Given the description of an element on the screen output the (x, y) to click on. 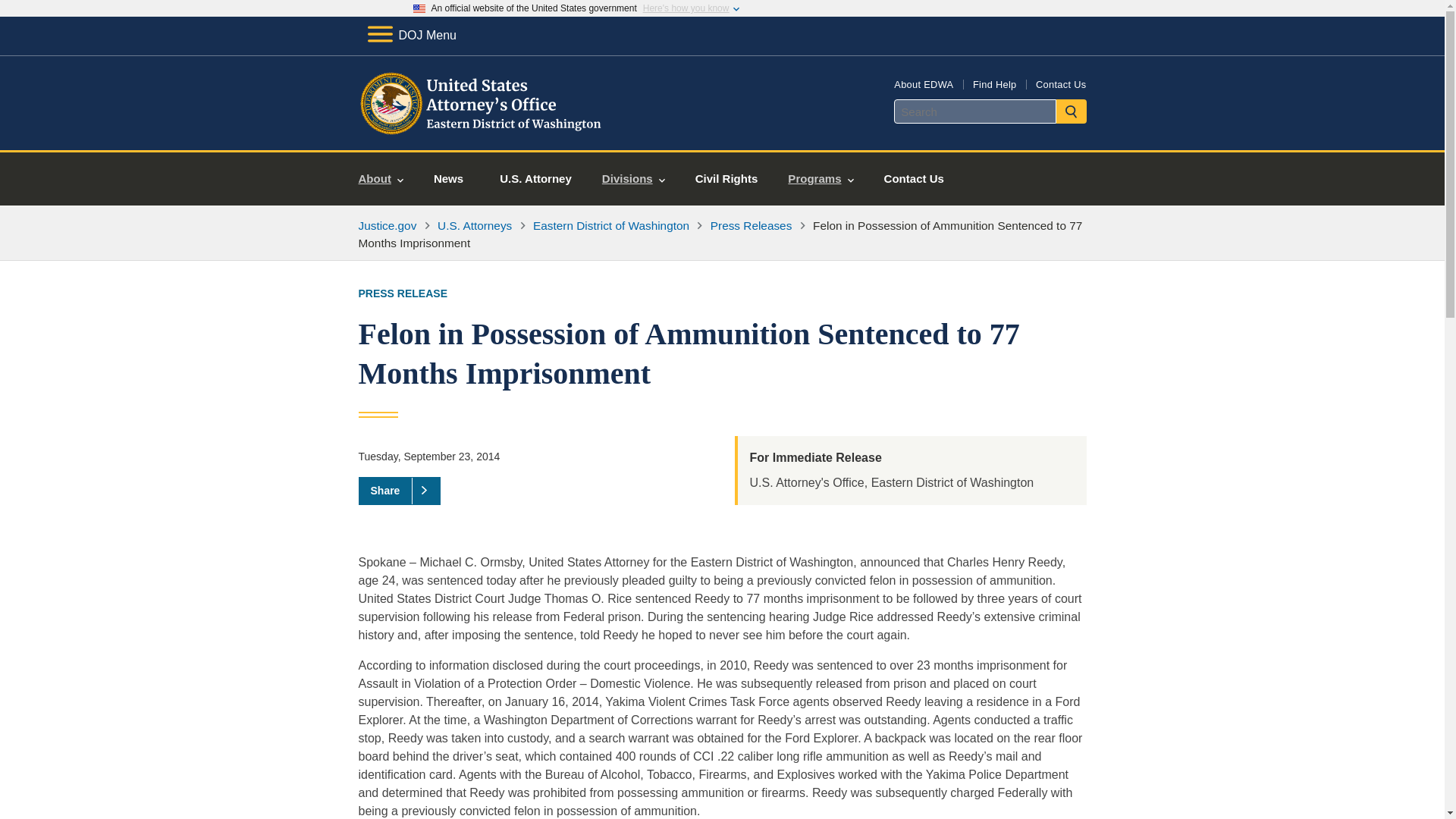
Divisions (633, 179)
Share (398, 490)
About EDWA (923, 84)
News (447, 179)
Press Releases (751, 225)
U.S. Attorneys (475, 225)
Justice.gov (387, 225)
Find Help (994, 84)
Programs (820, 179)
DOJ Menu (411, 35)
Here's how you know (686, 8)
Contact Us (914, 179)
U.S. Attorney (535, 179)
Civil Rights (726, 179)
Contact Us (1060, 84)
